Given the description of an element on the screen output the (x, y) to click on. 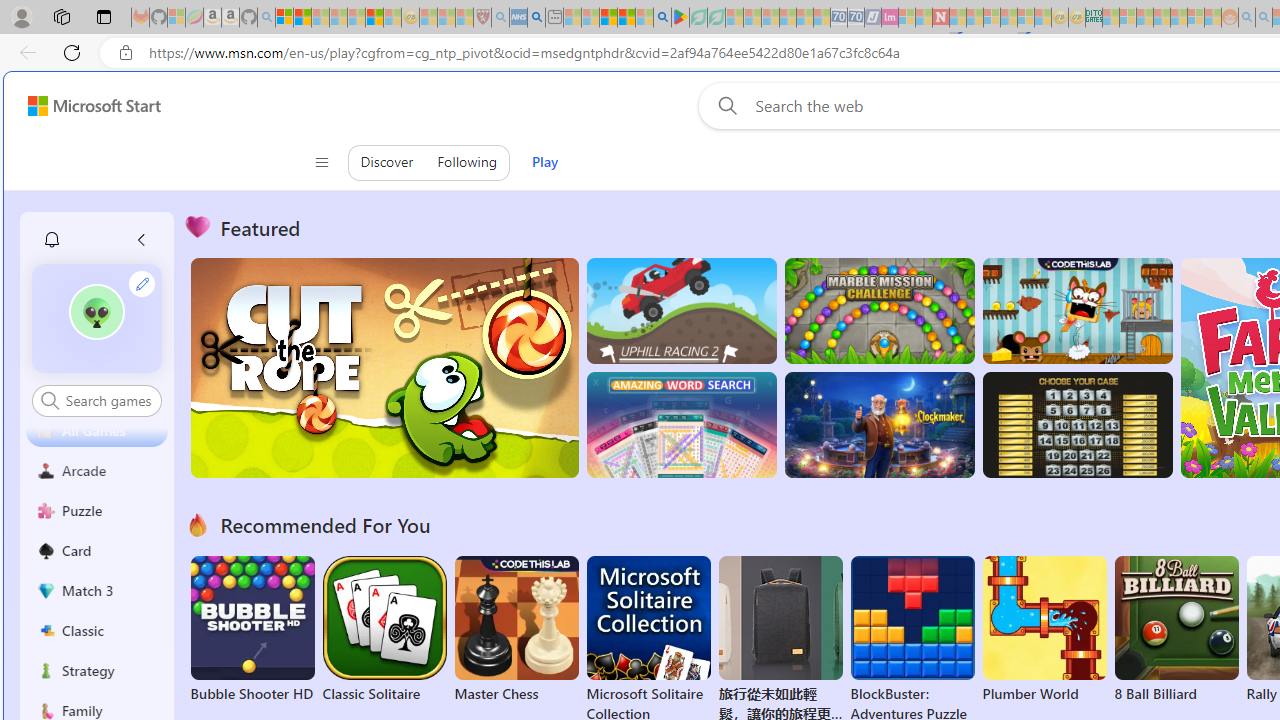
""'s avatar (96, 312)
8 Ball Billiard (1176, 629)
Deal or No Deal (1076, 425)
Bubble Shooter HD (251, 629)
Amazing Word Search (681, 425)
